Given the description of an element on the screen output the (x, y) to click on. 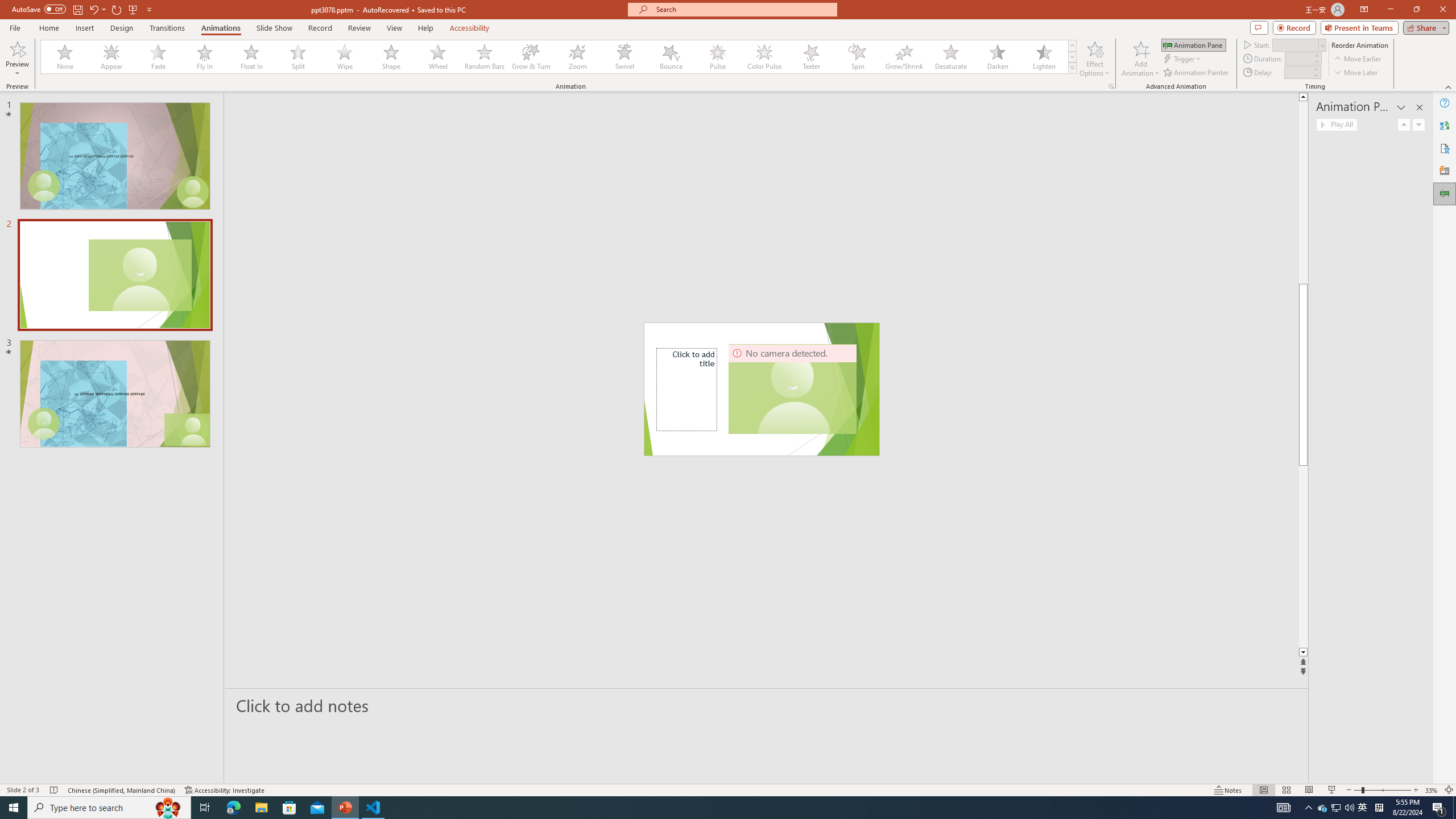
Animation Pane (1193, 44)
Move Earlier (1357, 58)
Appear (111, 56)
Split (298, 56)
More Options... (1110, 85)
Effect Options (1094, 58)
